Given the description of an element on the screen output the (x, y) to click on. 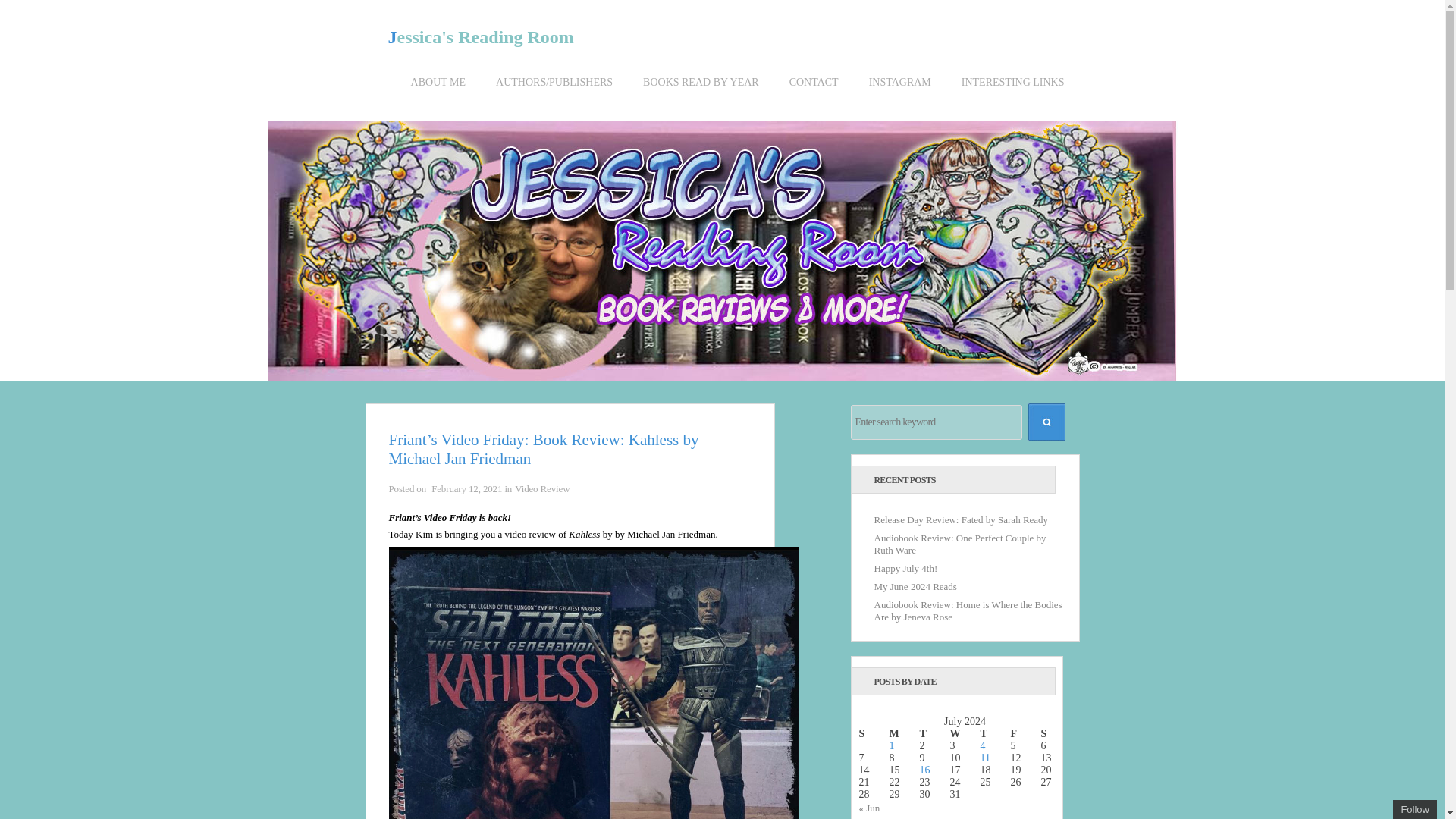
ABOUT ME (438, 93)
4 (982, 745)
Release Day Review: Fated by Sarah Ready (960, 519)
Tuesday (933, 734)
Sunday (873, 734)
My June 2024 Reads (914, 586)
Monday (903, 734)
Friday (1025, 734)
BOOKS READ BY YEAR (700, 93)
Thursday (994, 734)
Wednesday (964, 734)
Video Review (542, 488)
Audiobook Review: One Perfect Couple by Ruth Ware (959, 544)
Saturday (1055, 734)
CONTACT (813, 93)
